Given the description of an element on the screen output the (x, y) to click on. 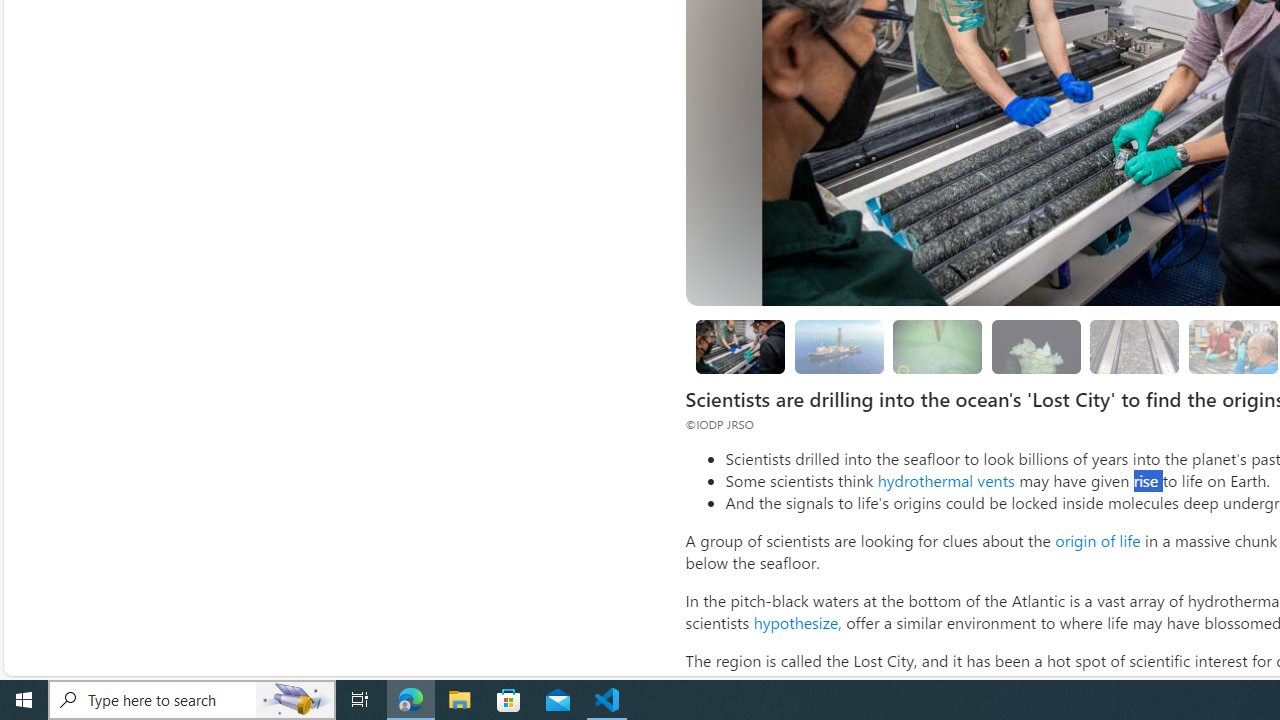
The Lost City could hold clues to the origin of life. (1035, 346)
The Lost City could hold clues to the origin of life. (1035, 346)
hypothesize, (797, 622)
Looking for evidence of oxygen-free life (1232, 346)
hydrothermal vents (945, 480)
Class: progress (1134, 343)
origin of life (1097, 539)
